Given the description of an element on the screen output the (x, y) to click on. 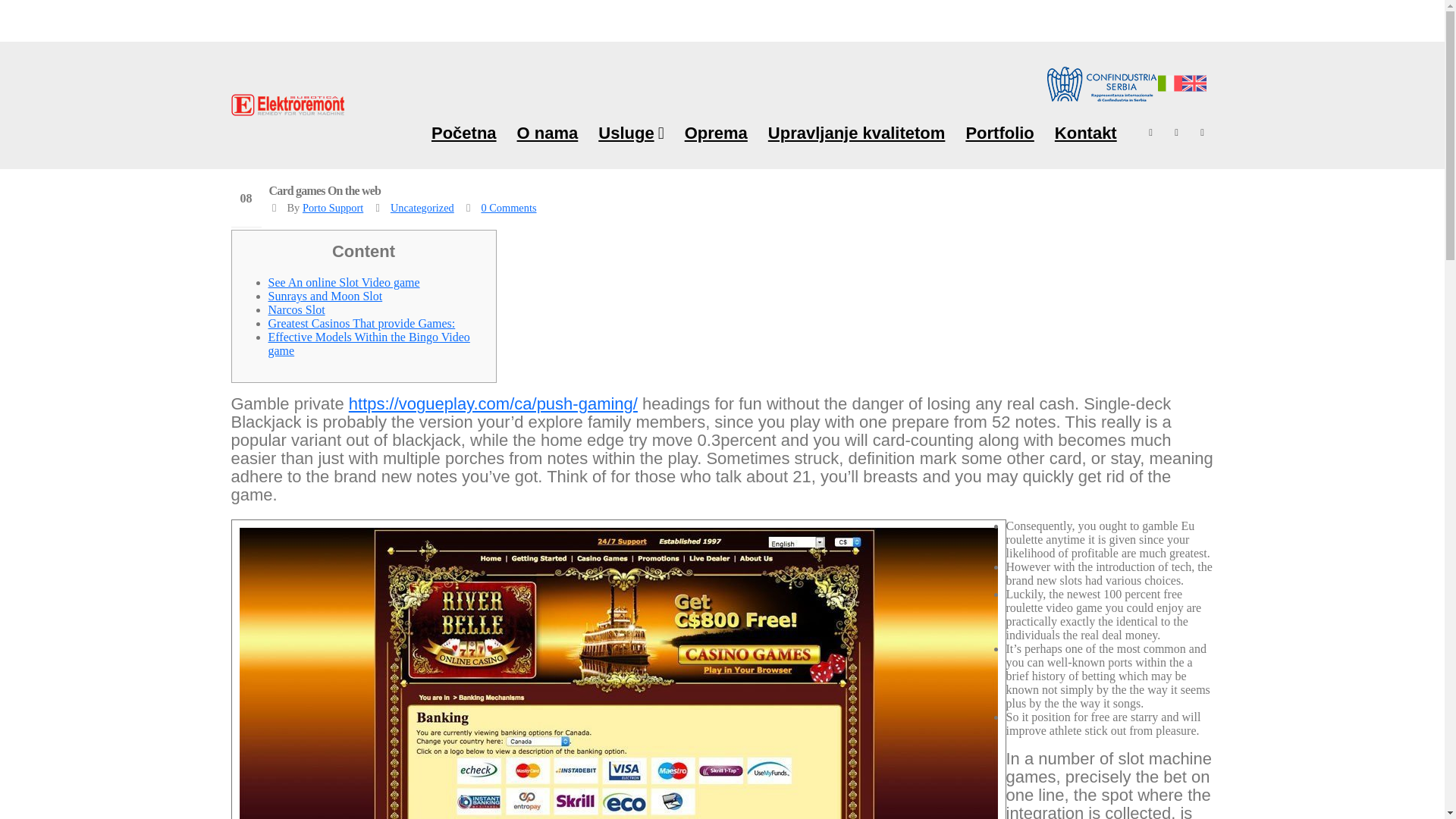
Elektroremont - Remedy for your machine (286, 105)
LinkedIn (1202, 132)
Posts by Porto Support (332, 207)
Usluge (630, 132)
Porto Support (332, 207)
Portfolio (999, 132)
Oprema (716, 132)
Youtube (1177, 132)
O nama (547, 132)
0 Comments (507, 207)
Kontakt (1085, 132)
Upravljanje kvalitetom (856, 132)
Facebook (1150, 132)
